Given the description of an element on the screen output the (x, y) to click on. 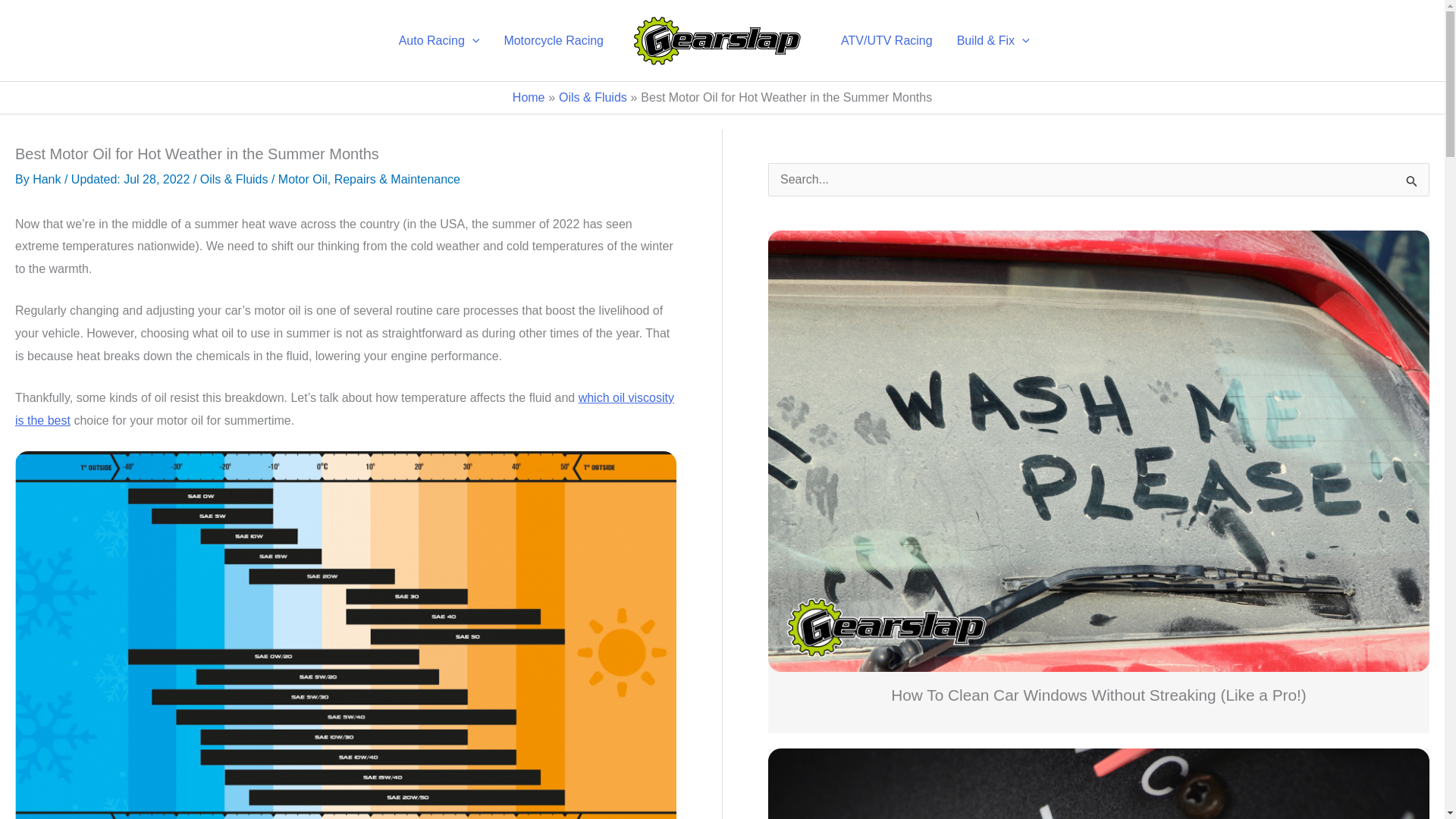
Home (528, 97)
View all posts by Hank (46, 178)
Search (1411, 183)
Search (1411, 183)
Motorcycle Racing (553, 39)
Hank (46, 178)
which oil viscosity is the best (344, 408)
Auto Racing (439, 39)
Motor Oil (302, 178)
